Given the description of an element on the screen output the (x, y) to click on. 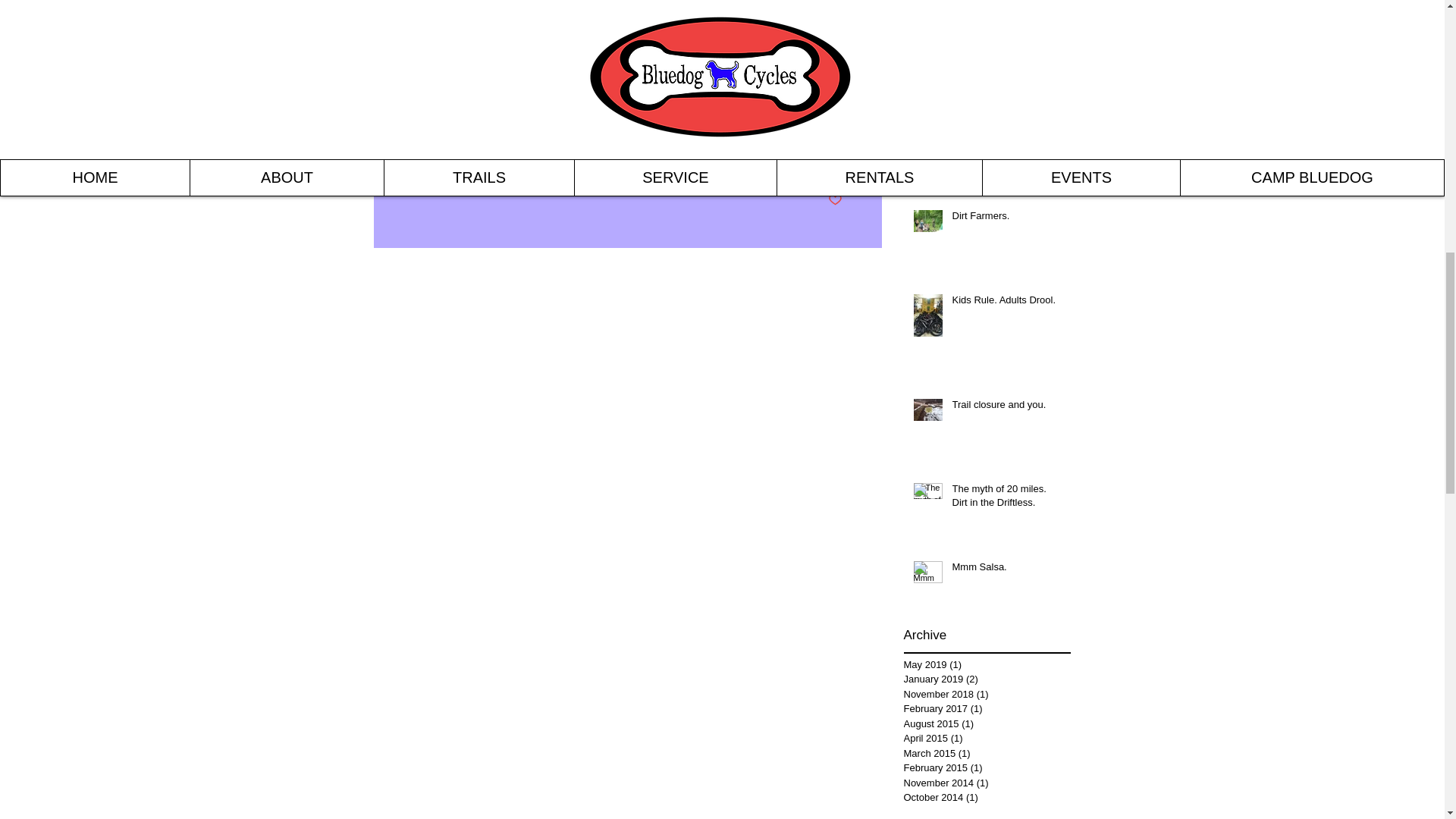
Kids Rule. Adults Drool. (1006, 302)
Mmm Salsa. (1006, 569)
Staff Picks: Cody discusses the Sturmfists by 45NRTH (1006, 51)
Bang for your buck, your bike, and your community. (1006, 151)
Post not marked as liked (835, 200)
Dirt Farmers. (1006, 219)
The myth of 20 miles. Dirt in the Driftless. (1006, 498)
Trail closure and you. (1006, 407)
